Given the description of an element on the screen output the (x, y) to click on. 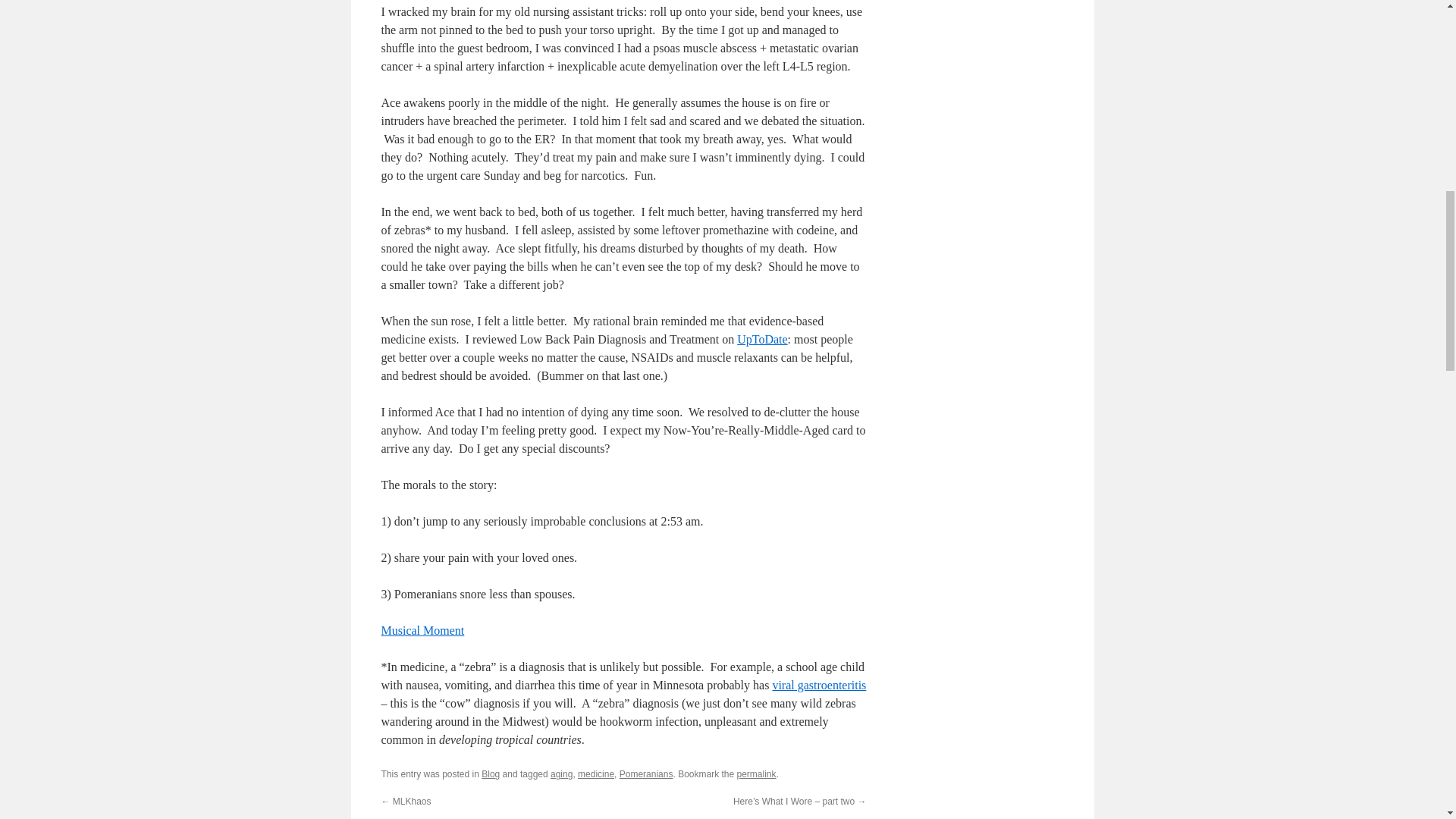
aging (561, 774)
Pomeranians (646, 774)
Musical Moment (422, 630)
Blog (490, 774)
UpToDate (761, 338)
viral gastroenteritis (818, 684)
permalink (756, 774)
Permalink to Trampled By Zebras (756, 774)
medicine (596, 774)
